Given the description of an element on the screen output the (x, y) to click on. 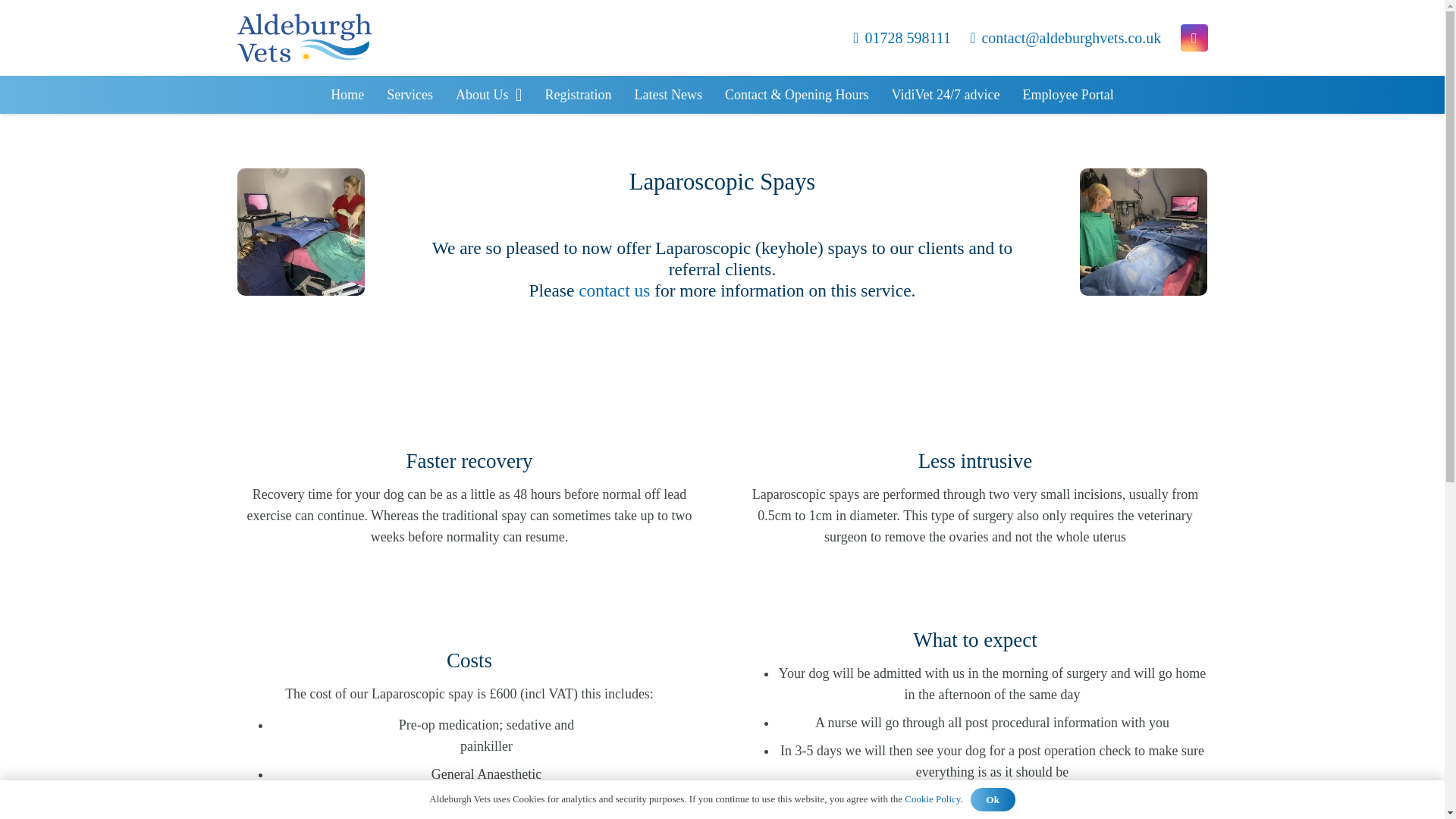
Home (346, 94)
Services (409, 94)
Cookie Policy (931, 798)
About Us (488, 94)
Latest News (668, 94)
01728 598111 (901, 37)
Instagram (1193, 37)
Registration (578, 94)
contact us (613, 290)
Employee Portal (1067, 94)
